Given the description of an element on the screen output the (x, y) to click on. 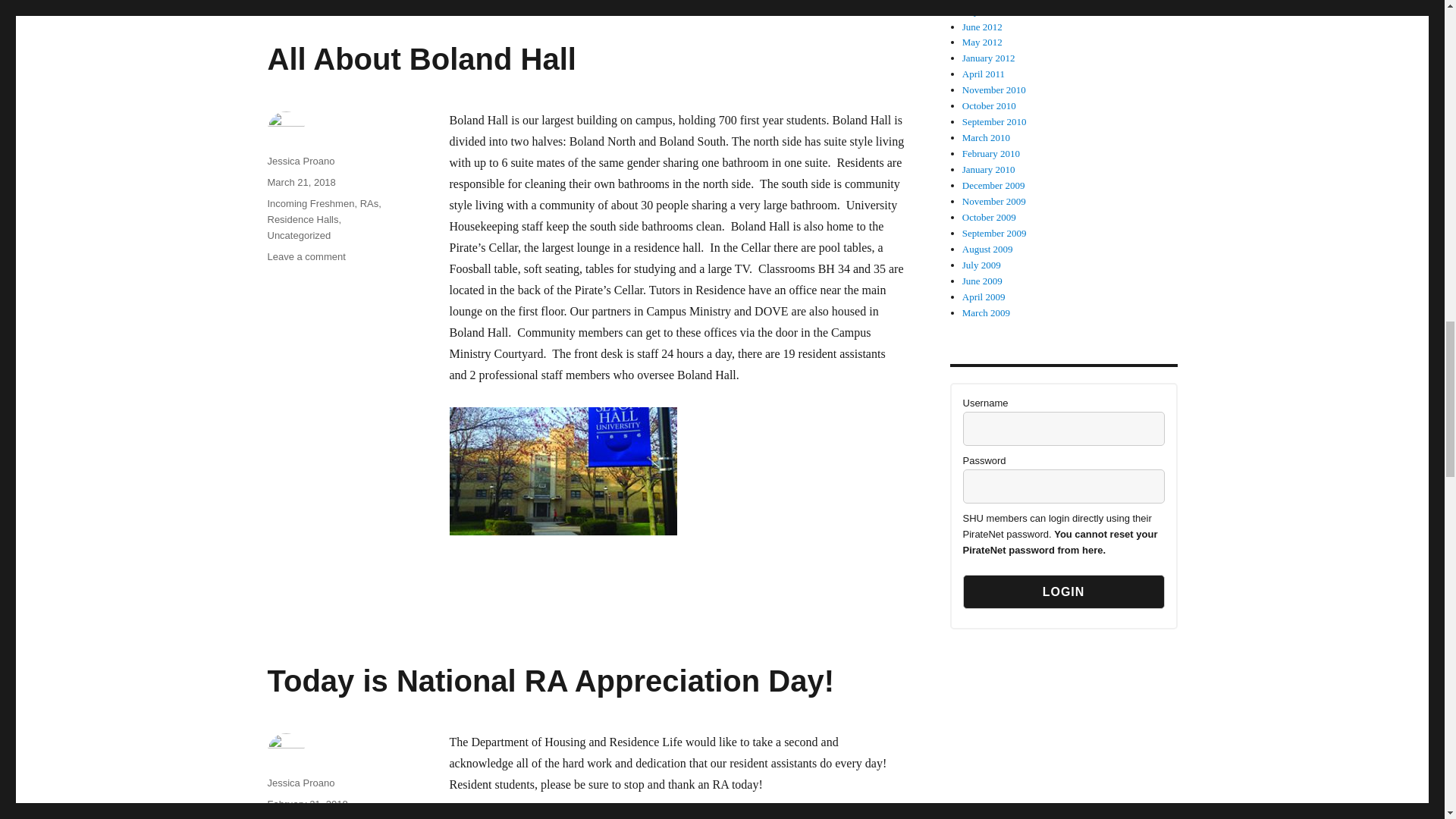
February 21, 2018 (306, 803)
March 21, 2018 (300, 182)
Jessica Proano (300, 161)
RAs (368, 203)
Jessica Proano (305, 256)
Login (300, 782)
Please enter password (1063, 591)
Incoming Freshmen (1063, 486)
Uncategorized (309, 203)
All About Boland Hall (298, 235)
Please enter username (420, 59)
Residence Halls (1063, 428)
Today is National RA Appreciation Day! (301, 219)
